Given the description of an element on the screen output the (x, y) to click on. 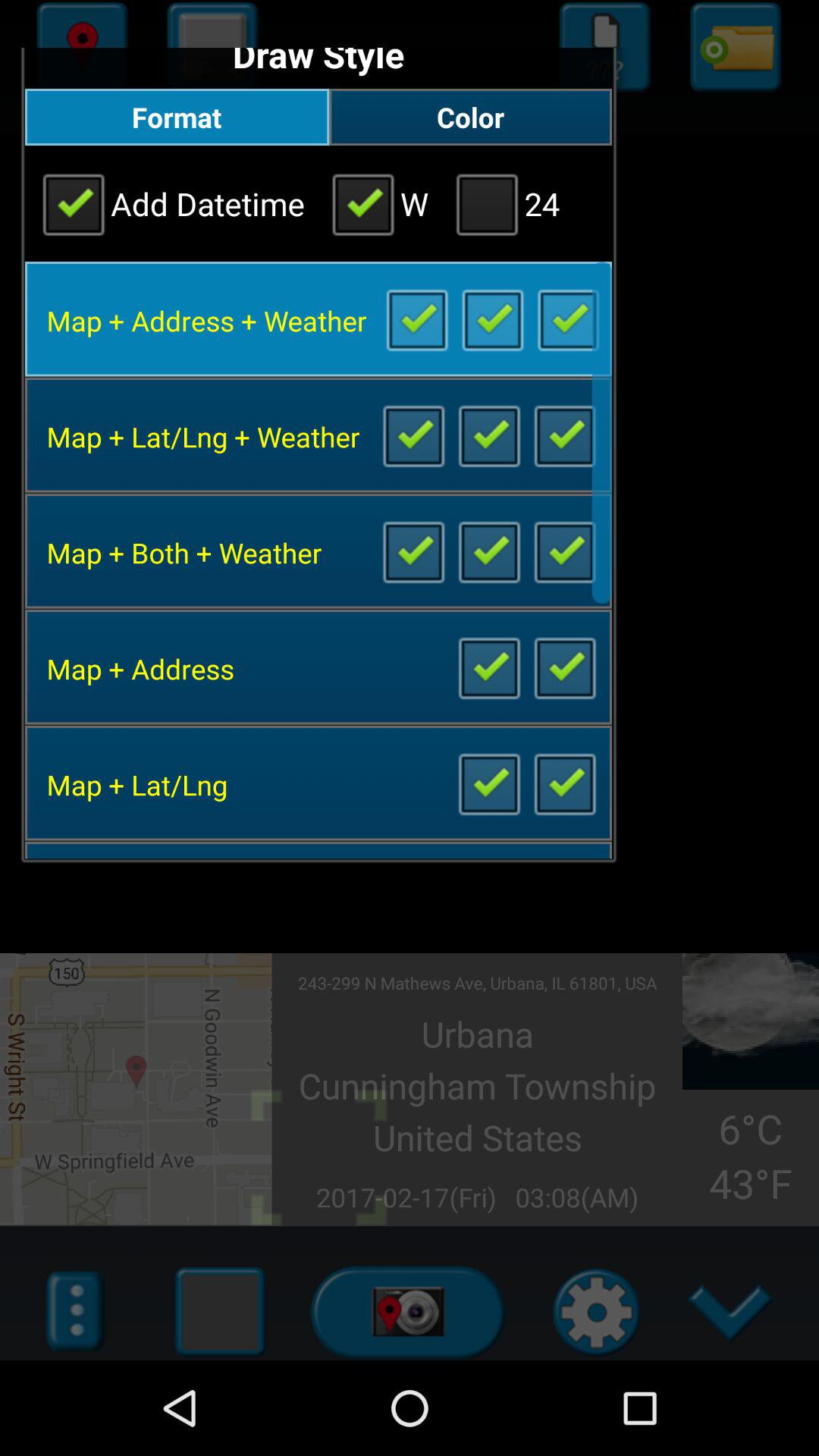
toggle view latitude and longitude (564, 782)
